Given the description of an element on the screen output the (x, y) to click on. 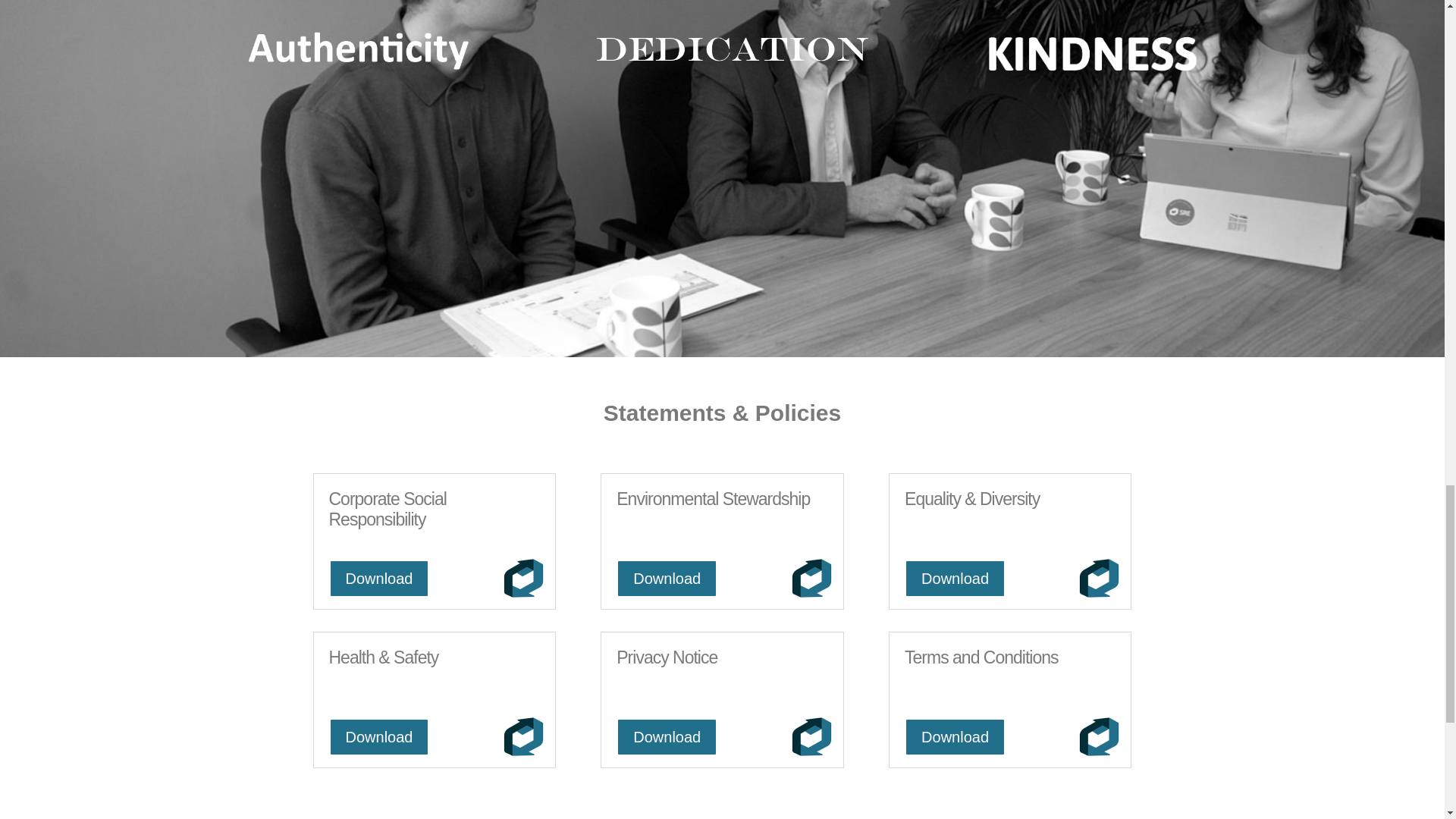
Download (955, 736)
Download (379, 736)
Download (666, 578)
Download (379, 578)
dedication (732, 48)
Download (955, 578)
Kindness (1085, 50)
authenticity (359, 50)
Download (666, 736)
